Given the description of an element on the screen output the (x, y) to click on. 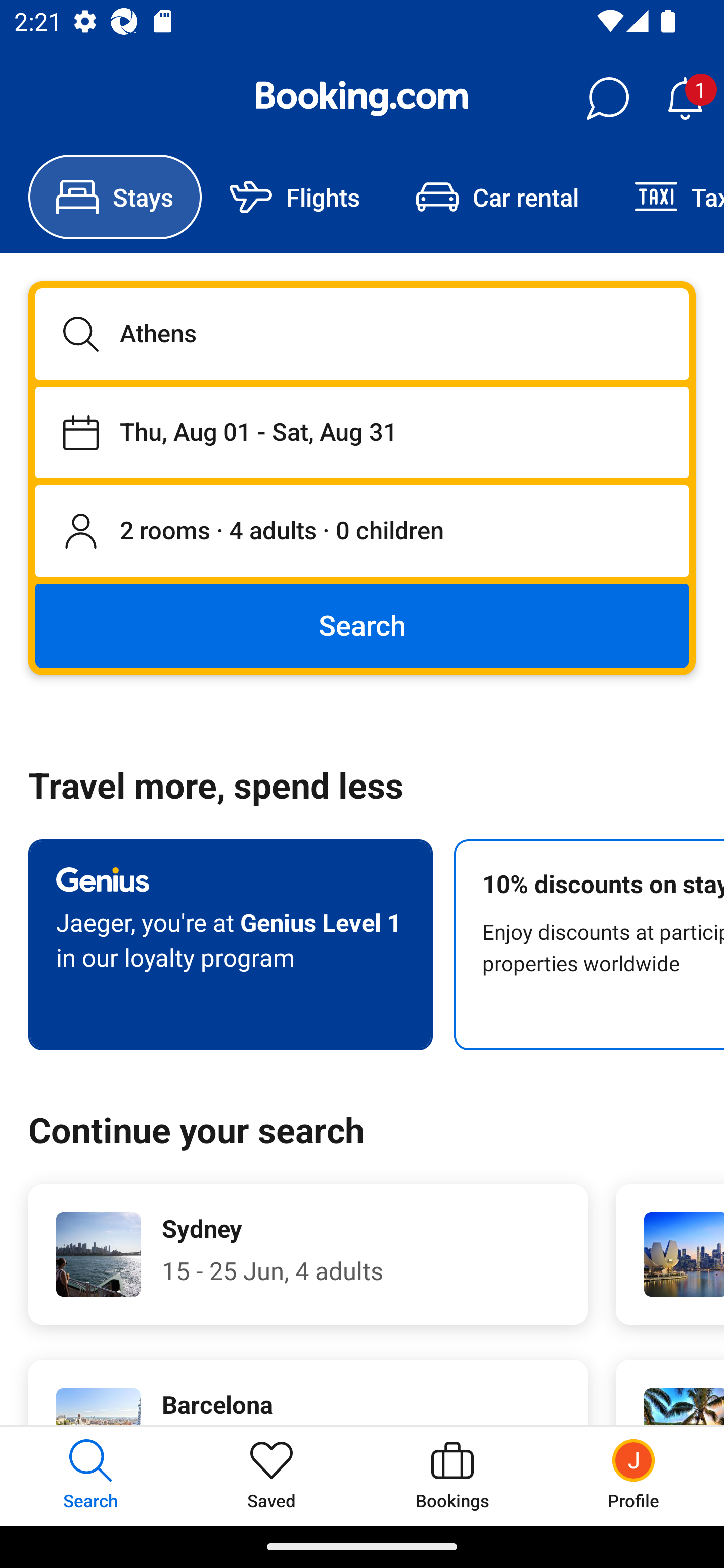
Messages (607, 98)
Notifications (685, 98)
Stays (114, 197)
Flights (294, 197)
Car rental (497, 197)
Taxi (665, 197)
Athens (361, 333)
Staying from Thu, Aug 01 until Sat, Aug 31 (361, 432)
2 rooms, 4 adults, 0 children (361, 531)
Search (361, 625)
Sydney 15 - 25 Jun, 4 adults (307, 1253)
Saved (271, 1475)
Bookings (452, 1475)
Profile (633, 1475)
